Given the description of an element on the screen output the (x, y) to click on. 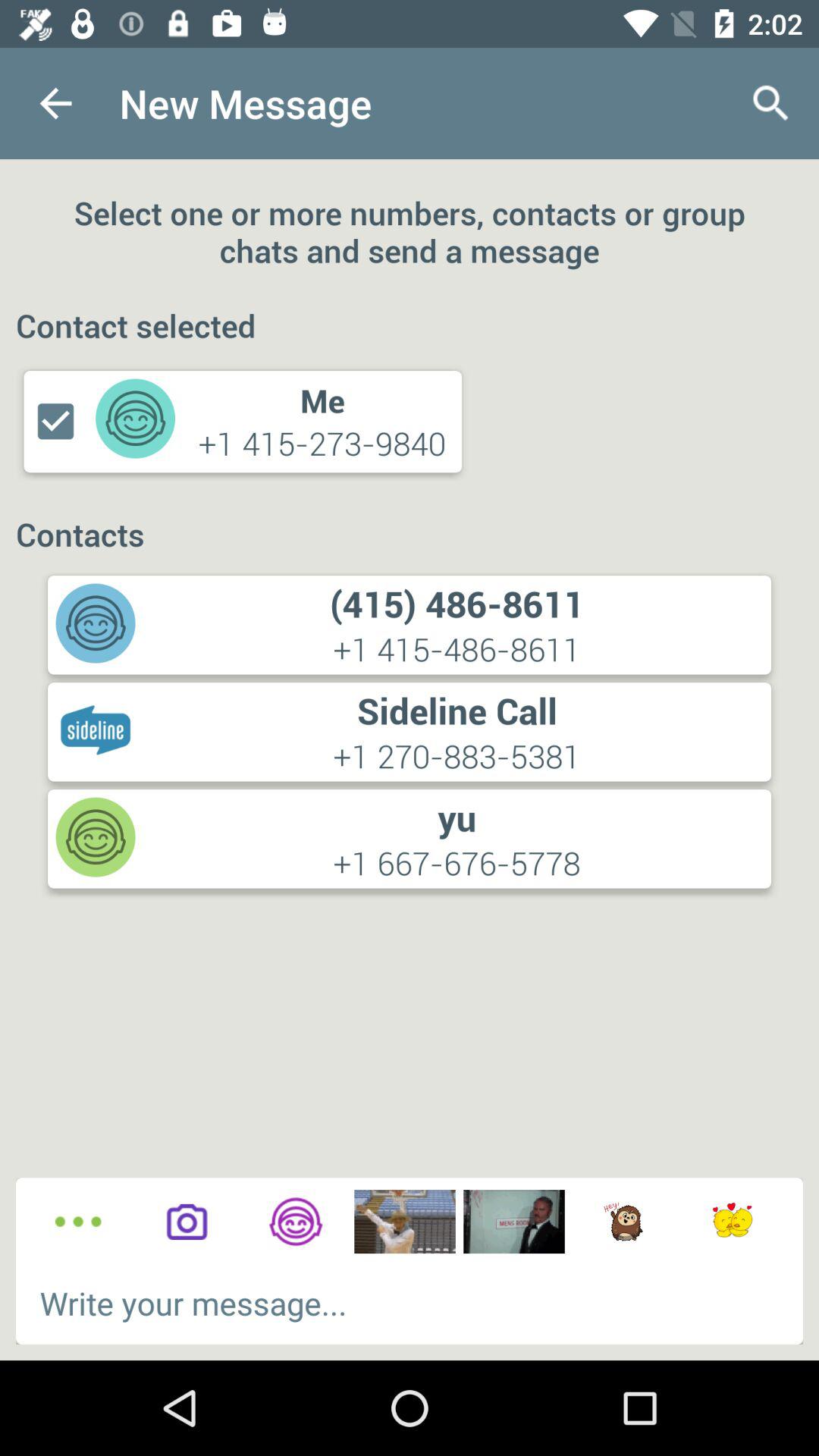
insert hey cute hedgehog clip-art (622, 1221)
